Given the description of an element on the screen output the (x, y) to click on. 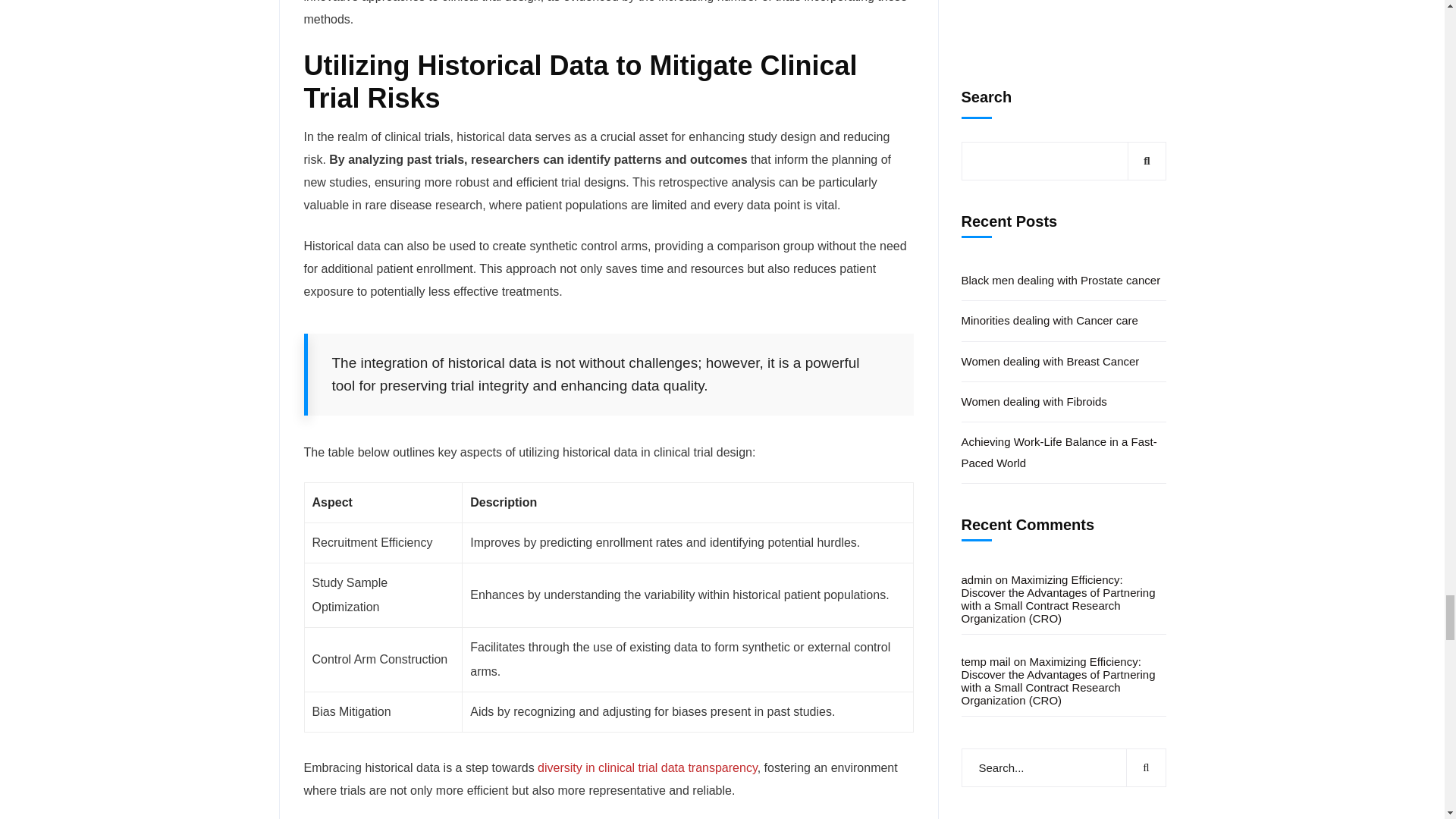
diversity in clinical trial data transparency (647, 767)
